Given the description of an element on the screen output the (x, y) to click on. 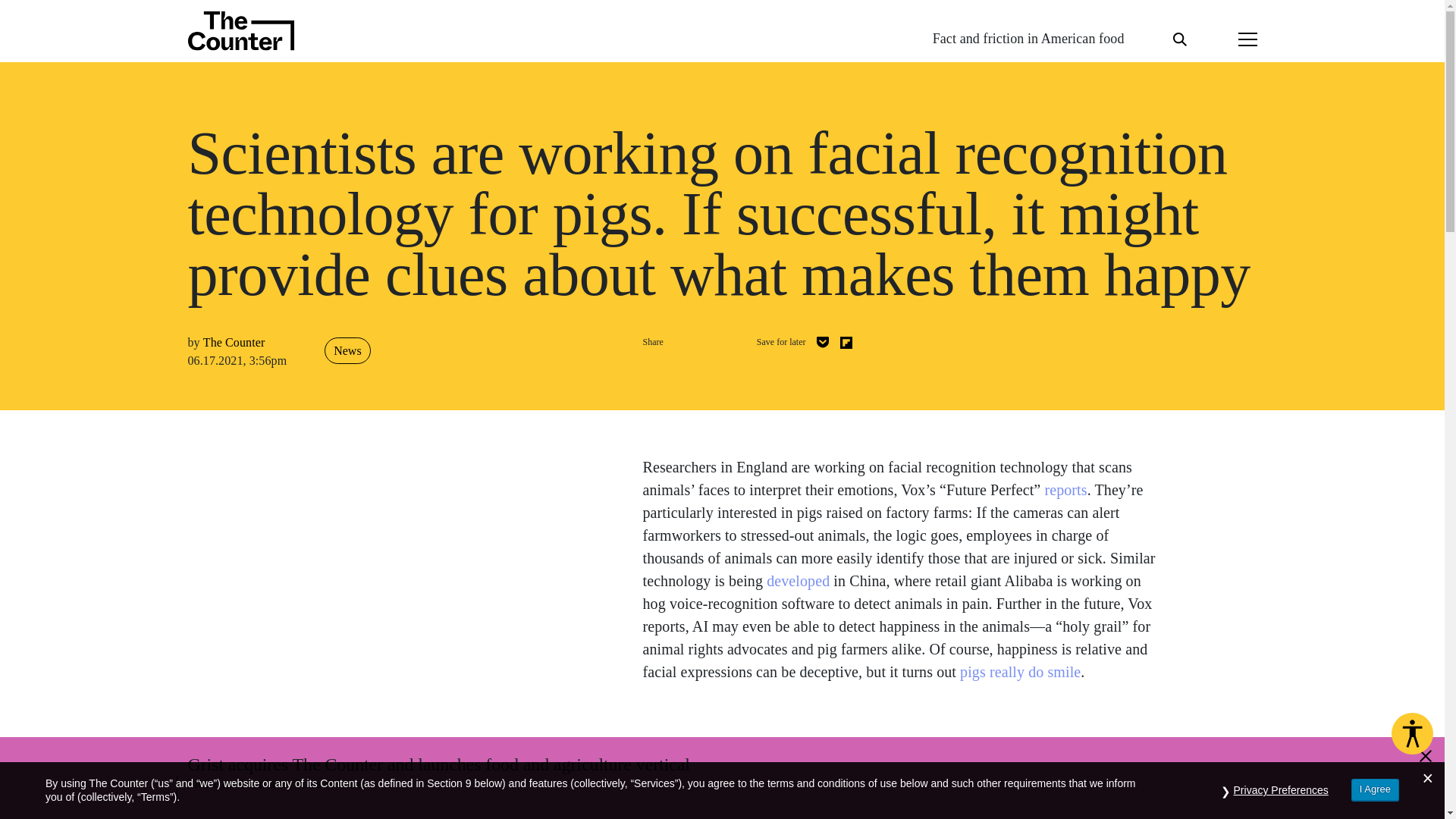
reports (1064, 489)
animal rights (788, 759)
developed (798, 580)
animal activists (729, 759)
The Counter (753, 816)
pigs (893, 759)
animals (831, 759)
News (346, 350)
farmers (866, 759)
pigs really do smile (1019, 671)
tech (915, 759)
The Counter (233, 341)
